Given the description of an element on the screen output the (x, y) to click on. 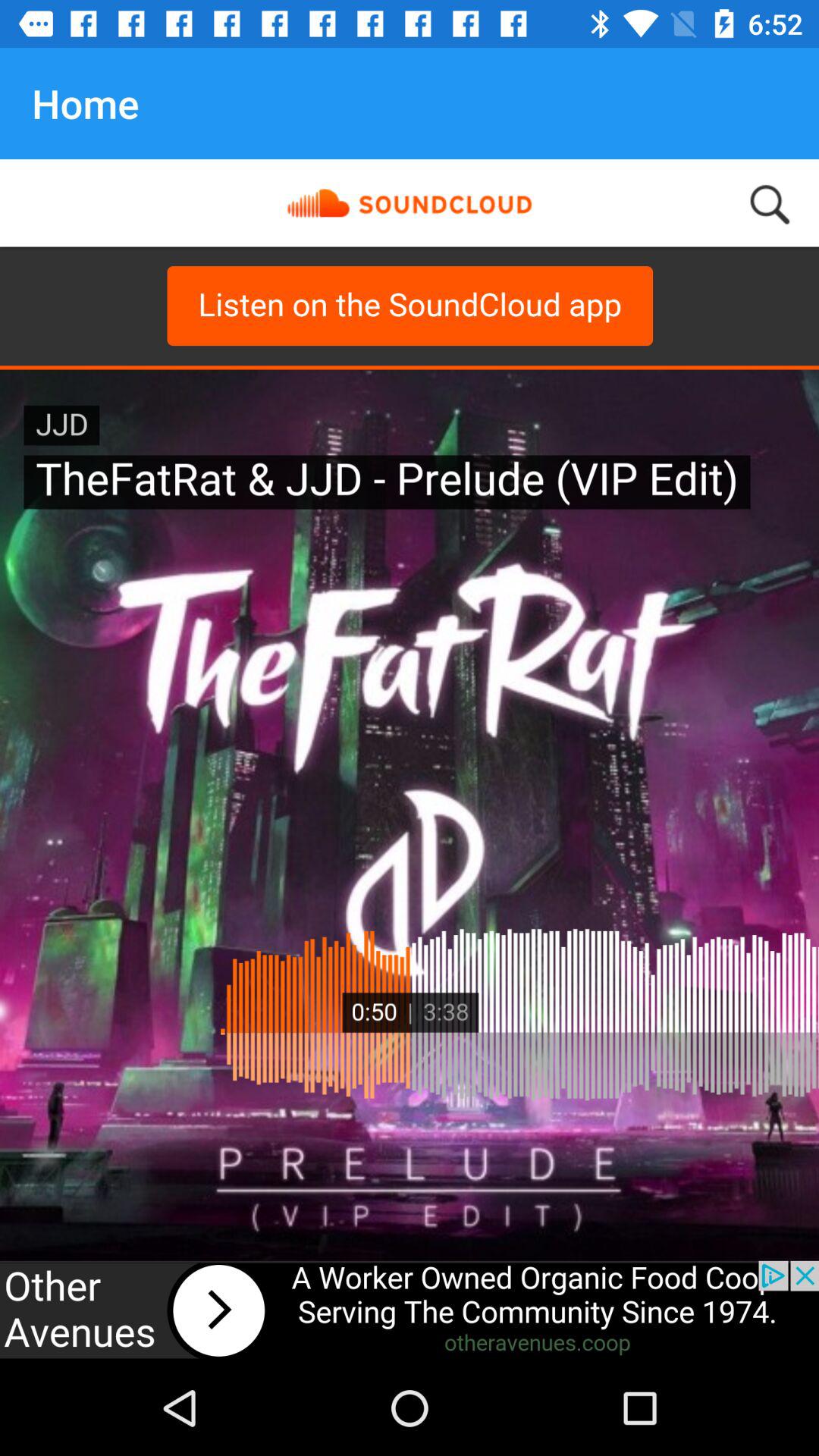
advertisement (409, 1310)
